Given the description of an element on the screen output the (x, y) to click on. 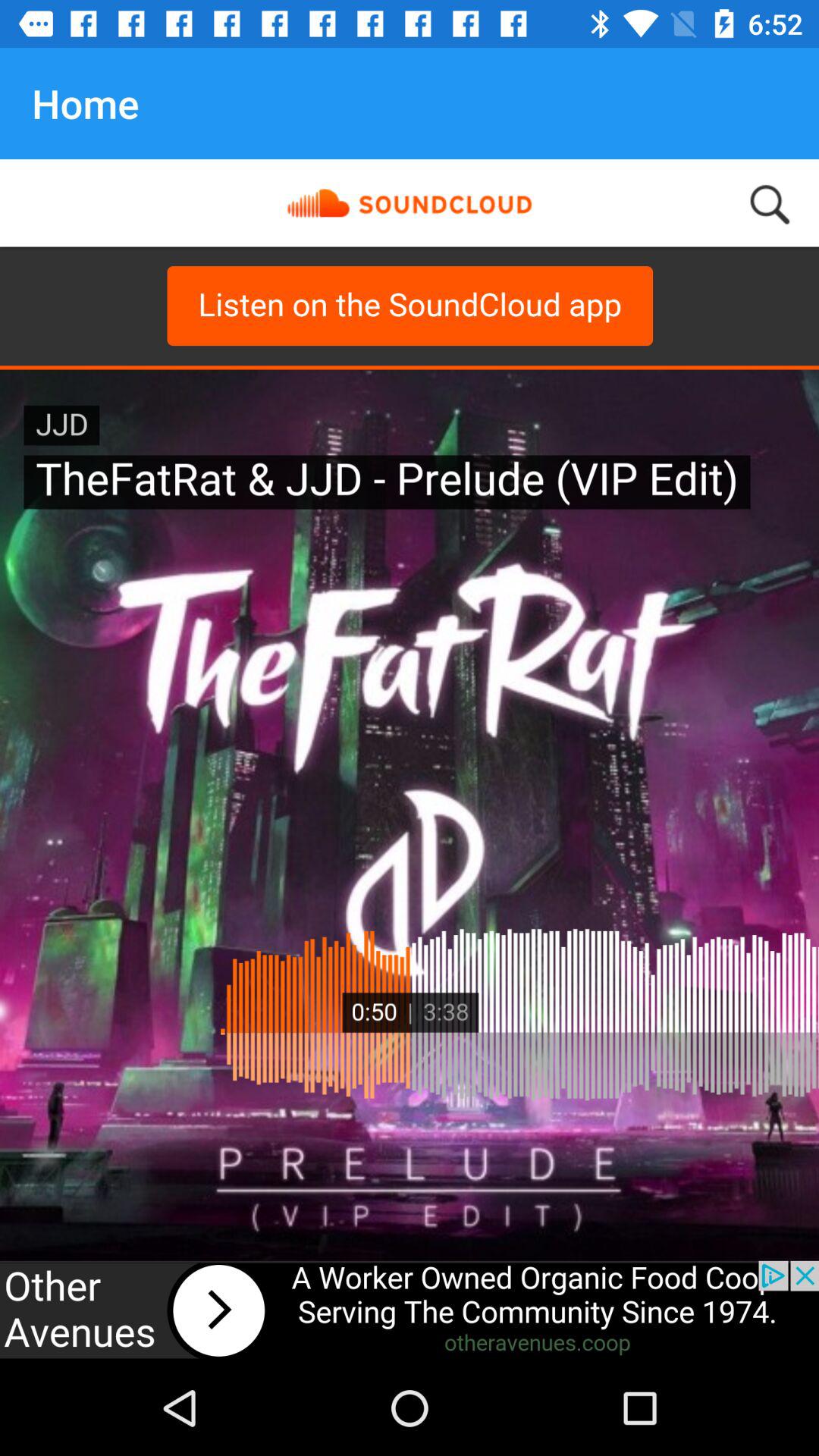
advertisement (409, 1310)
